Given the description of an element on the screen output the (x, y) to click on. 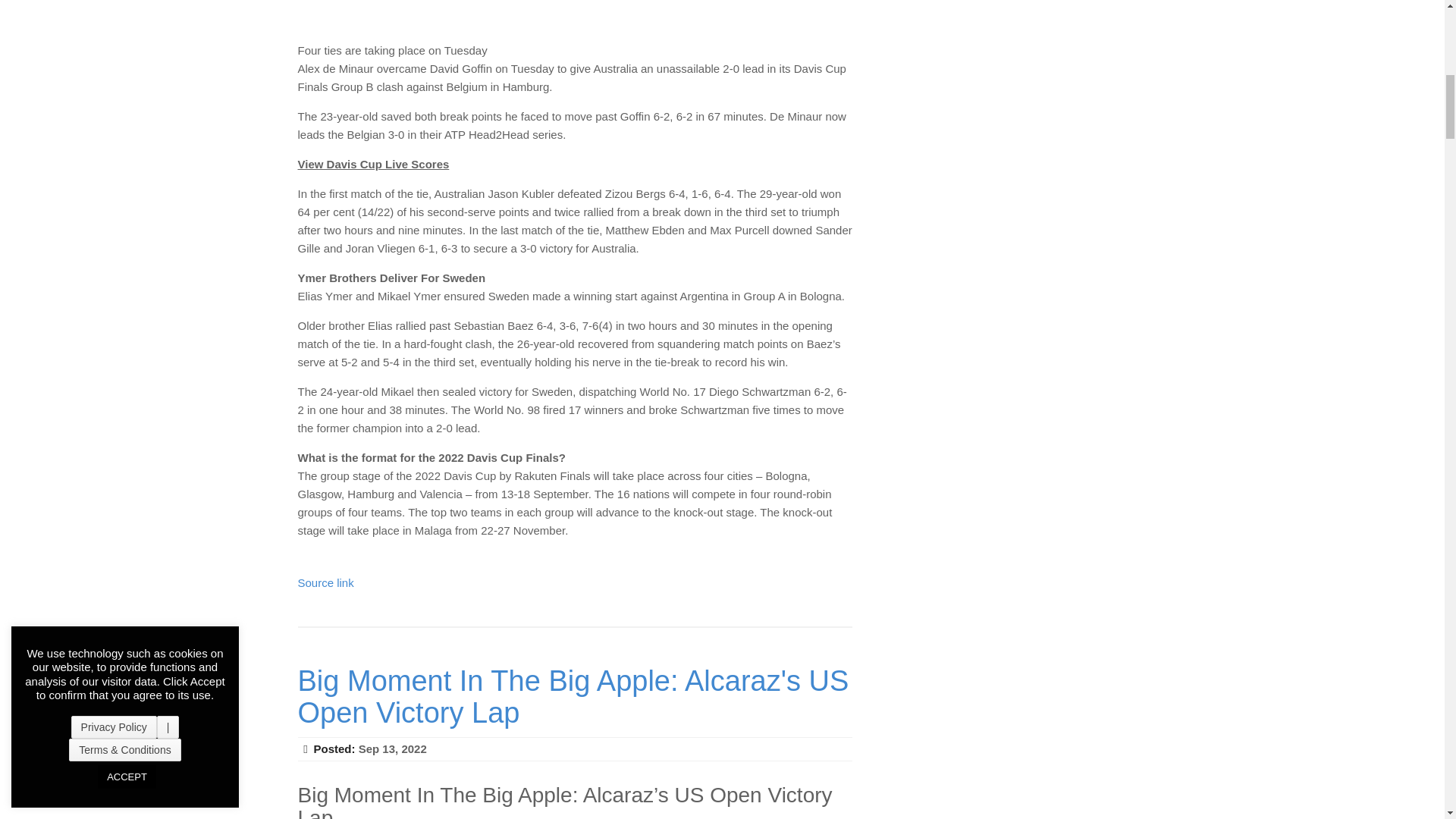
Source link (325, 582)
Big Moment In The Big Apple: Alcaraz's US Open Victory Lap (572, 696)
